Given the description of an element on the screen output the (x, y) to click on. 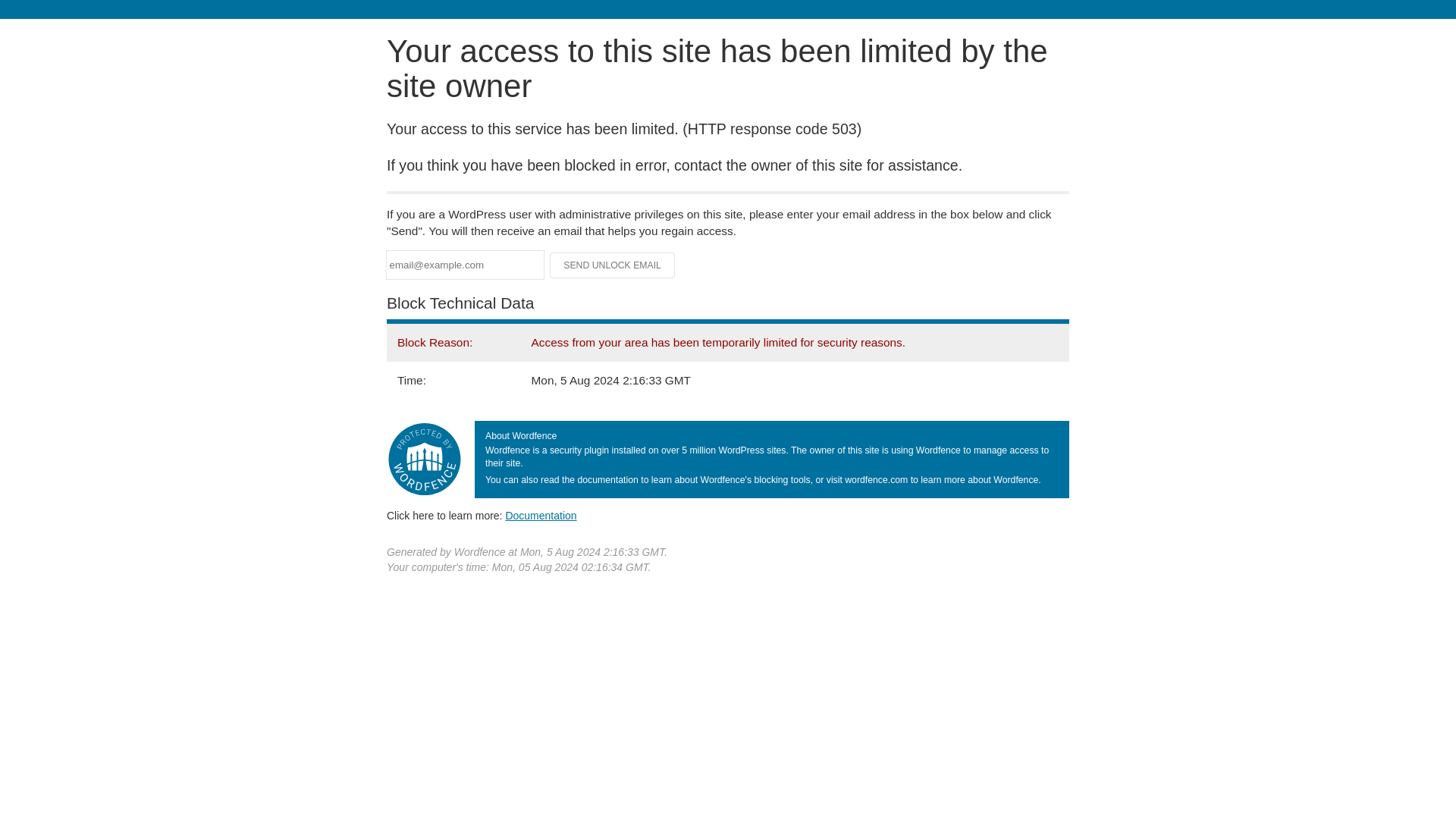
Send Unlock Email (612, 265)
Send Unlock Email (612, 265)
Documentation (540, 515)
